Given the description of an element on the screen output the (x, y) to click on. 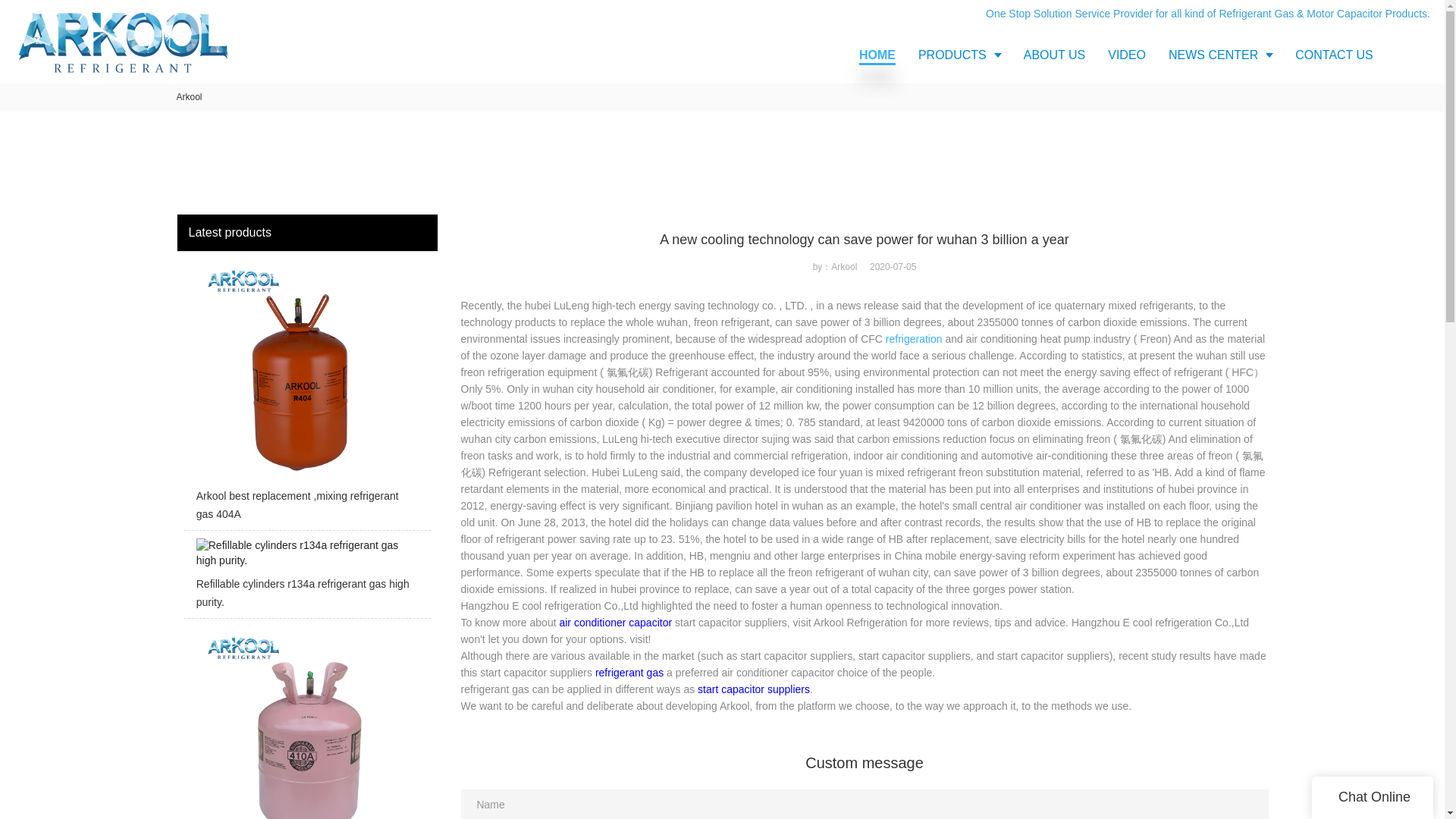
refrigerant gas (629, 672)
refrigeration (913, 338)
HOME (877, 55)
Arkool best replacement ,mixing refrigerant gas 404A (306, 394)
NEWS CENTER (1220, 55)
Arkool (189, 96)
start capacitor suppliers (753, 689)
air conditioner capacitor (615, 622)
Refillable cylinders r134a refrigerant gas high purity. (306, 578)
ABOUT US (1054, 55)
